Given the description of an element on the screen output the (x, y) to click on. 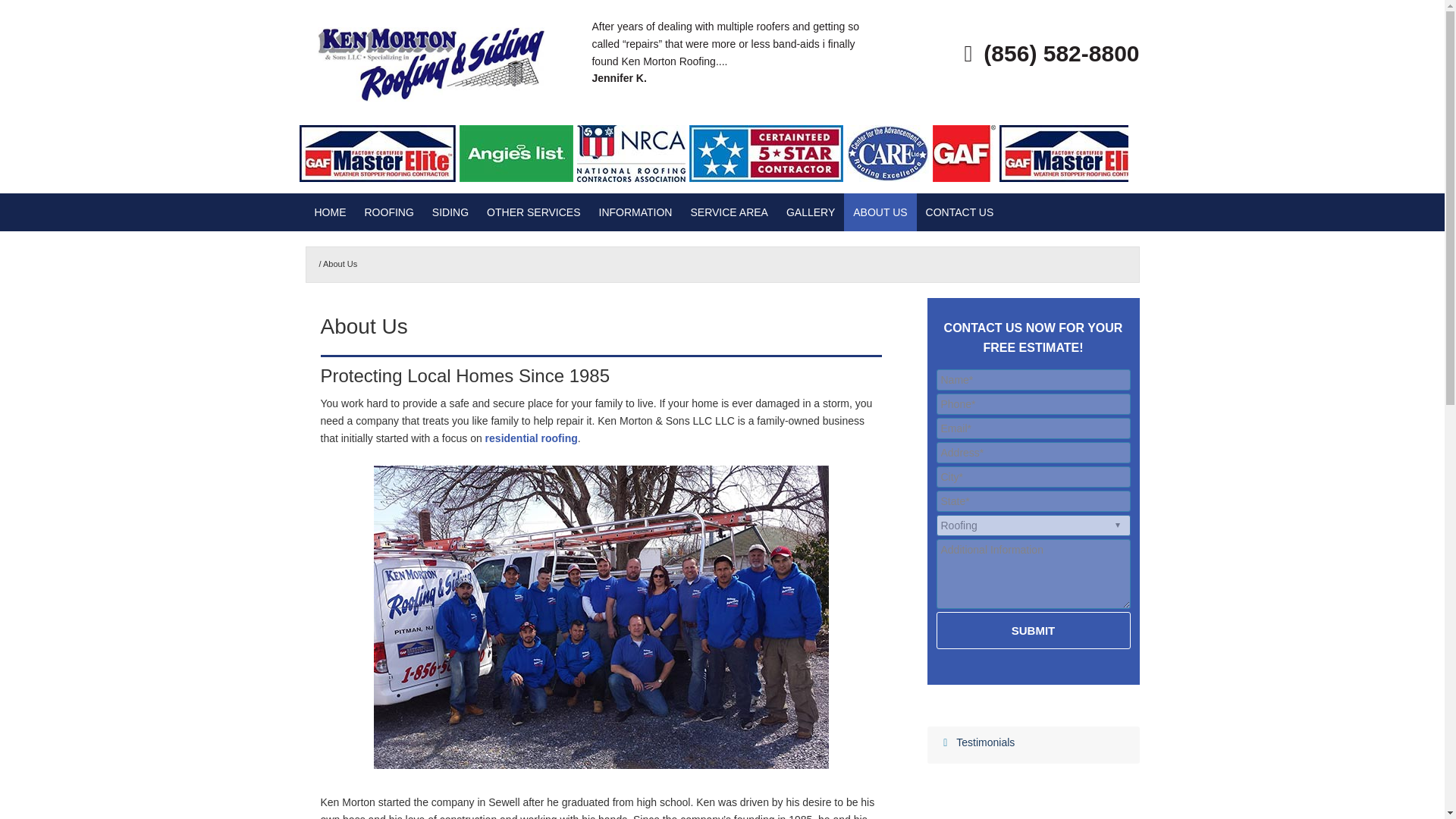
residential roofing (531, 438)
ABOUT US (879, 211)
ROOFING (388, 211)
SERVICE AREA (728, 211)
GAF (965, 177)
GALLERY (810, 211)
GAF Master Elite (379, 177)
INFORMATION (635, 211)
GAF Master Elite (1078, 177)
Angies' List (518, 177)
OTHER SERVICES (533, 211)
CONTACT US (960, 211)
CARE (890, 177)
NRCA (632, 177)
